Given the description of an element on the screen output the (x, y) to click on. 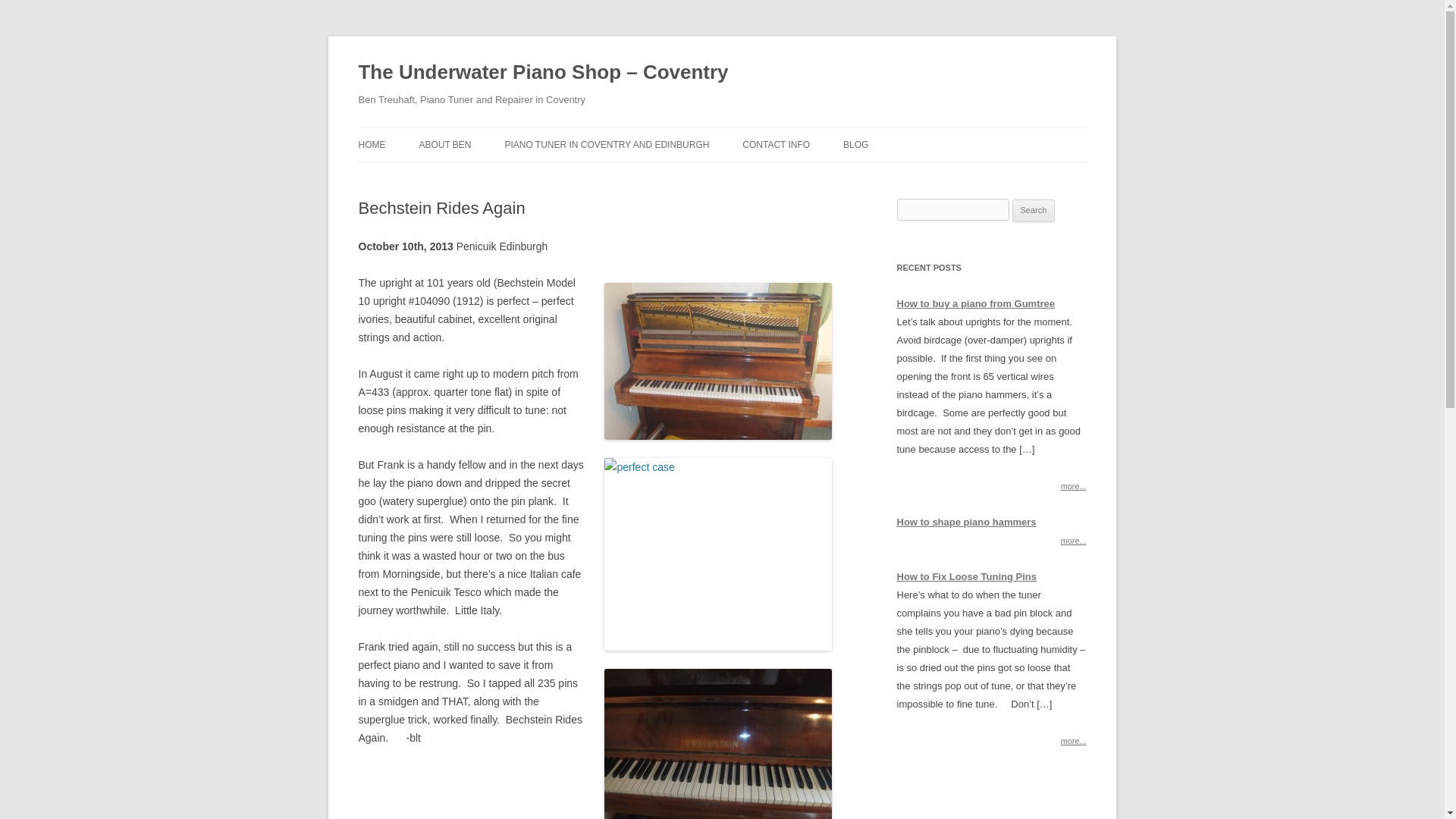
BLOG (855, 144)
more... (1073, 485)
Search (1033, 210)
Search (1033, 210)
How to Fix Loose Tuning Pins (965, 576)
Skip to content (757, 132)
How to shape piano hammers (965, 521)
CONTACT INFO (775, 144)
more... (1073, 540)
more... (1073, 740)
How to buy a piano from Gumtree (975, 303)
PIANO TUNER IN COVENTRY AND EDINBURGH (606, 144)
ABOUT BEN (444, 144)
HOME (371, 144)
Skip to content (757, 132)
